Given the description of an element on the screen output the (x, y) to click on. 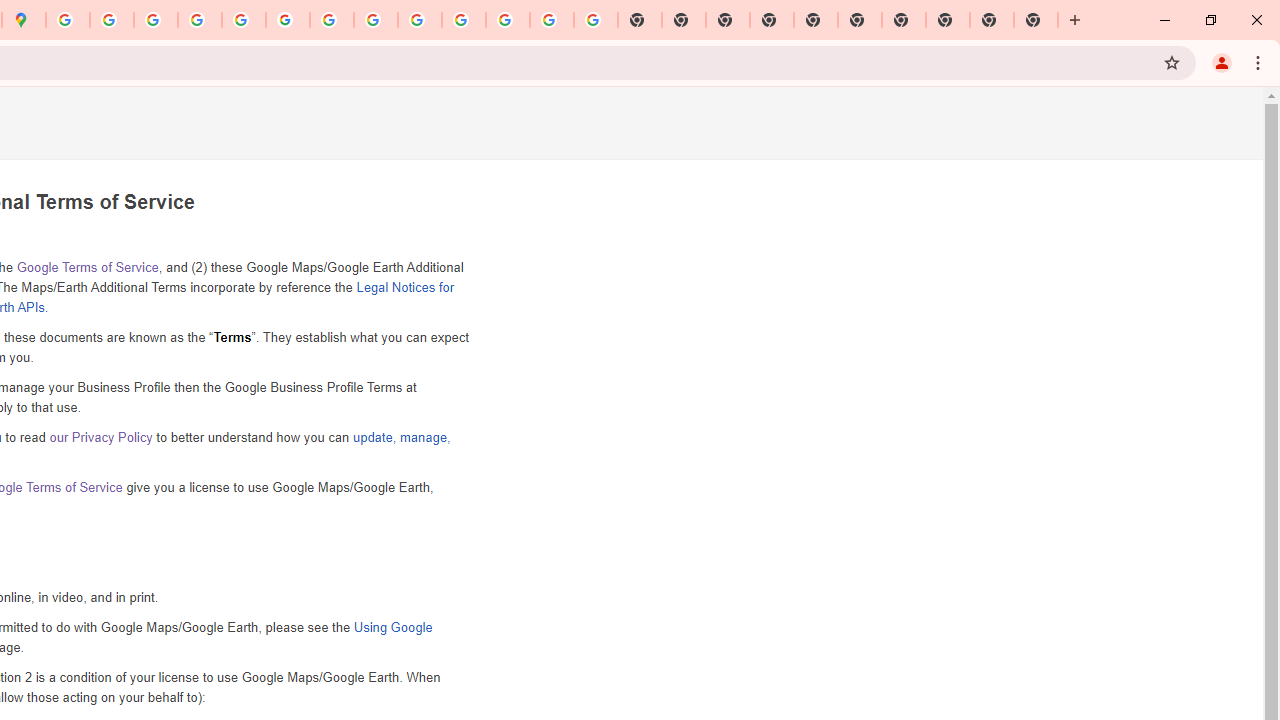
Sign in - Google Accounts (67, 20)
Minimize (1165, 20)
Privacy Help Center - Policies Help (199, 20)
YouTube (331, 20)
Privacy Help Center - Policies Help (155, 20)
Chrome (1260, 62)
Bookmark this tab (1171, 62)
